Given the description of an element on the screen output the (x, y) to click on. 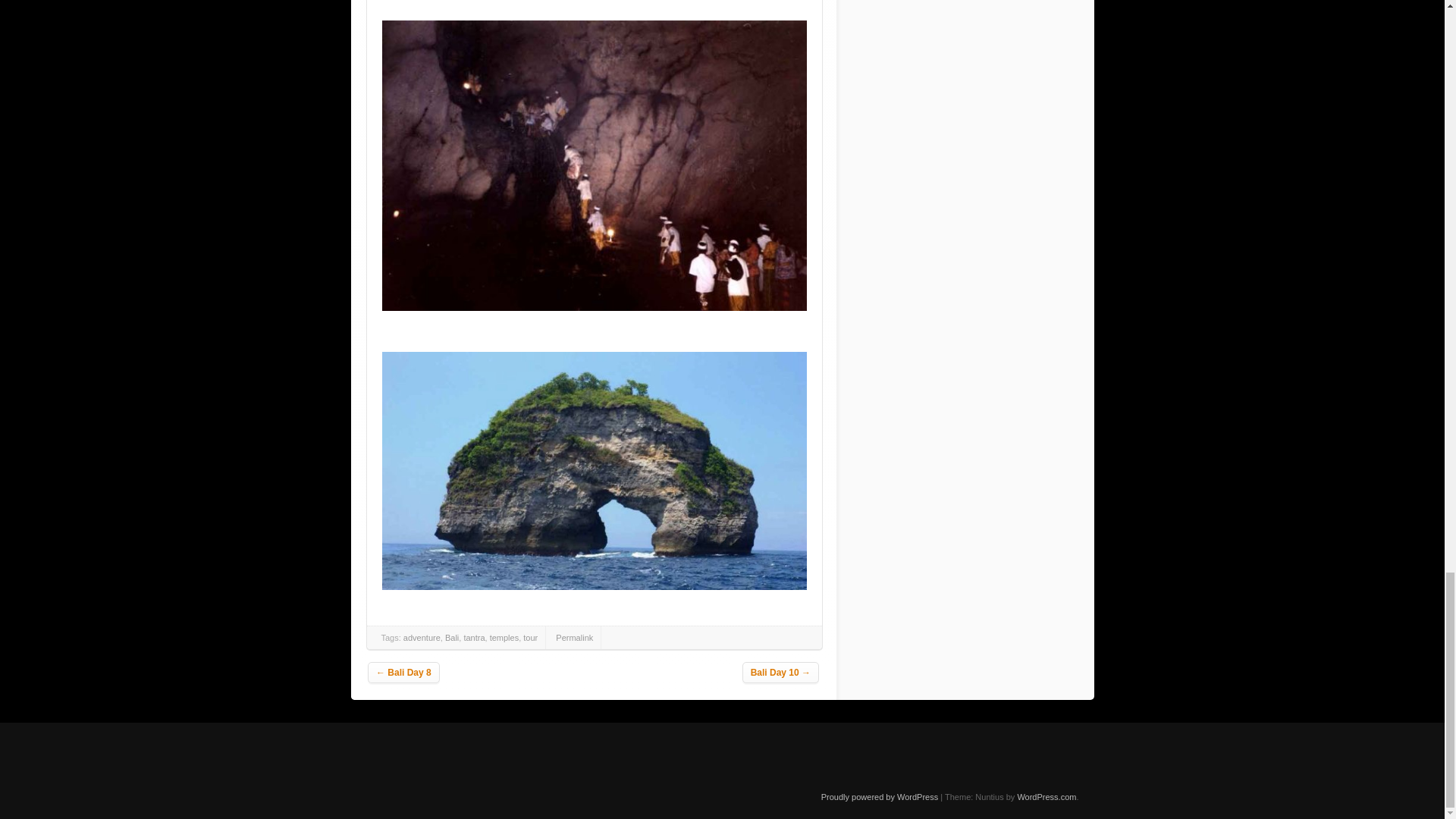
Permalink (574, 637)
temples (504, 637)
Semantic Personal Publishing Platform (879, 796)
tour (529, 637)
Bali (451, 637)
tantra (473, 637)
Permalink to Bali Day 9 (574, 637)
adventure (422, 637)
